Given the description of an element on the screen output the (x, y) to click on. 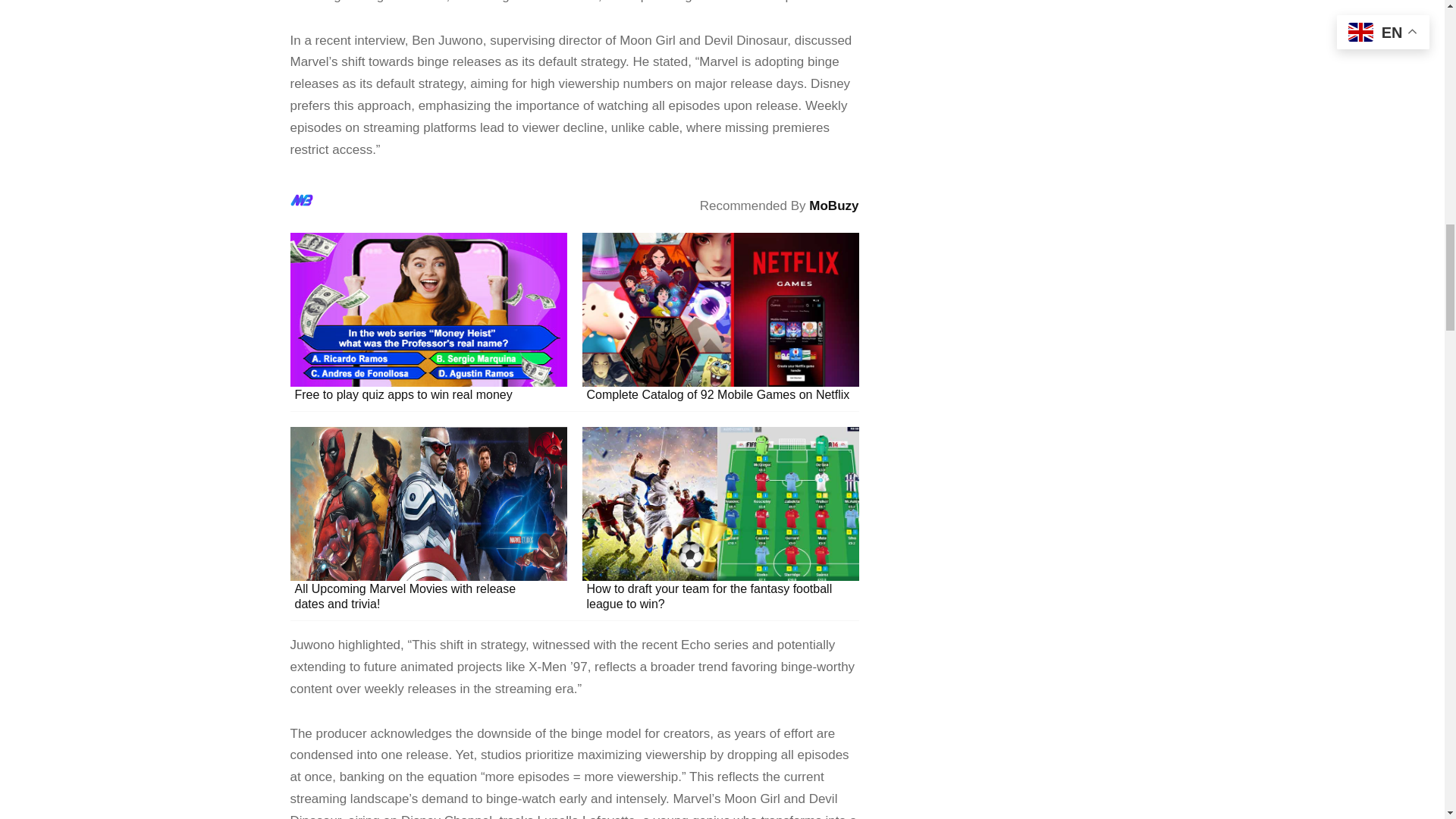
MoBuzy (834, 205)
